Given the description of an element on the screen output the (x, y) to click on. 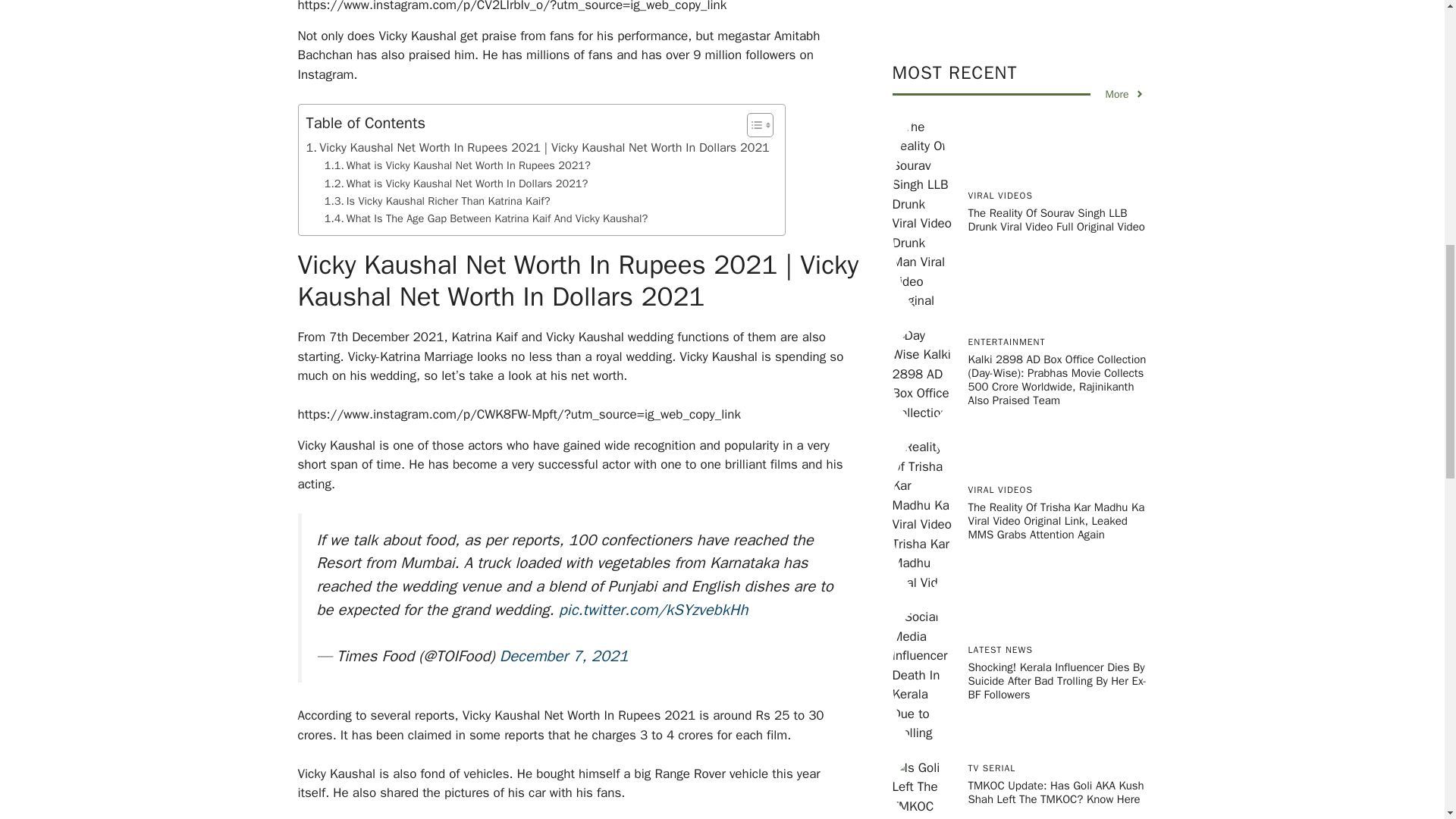
Is Vicky Kaushal Richer Than Katrina Kaif? (437, 200)
December 7, 2021 (563, 655)
What is Vicky Kaushal Net Worth In Dollars 2021? (456, 183)
What Is The Age Gap Between Katrina Kaif And Vicky Kaushal? (485, 218)
What is Vicky Kaushal Net Worth In Dollars 2021? (456, 183)
What is Vicky Kaushal Net Worth In Rupees 2021? (457, 165)
Is Vicky Kaushal Richer Than Katrina Kaif? (437, 200)
What is Vicky Kaushal Net Worth In Rupees 2021? (457, 165)
What Is The Age Gap Between Katrina Kaif And Vicky Kaushal? (485, 218)
